Given the description of an element on the screen output the (x, y) to click on. 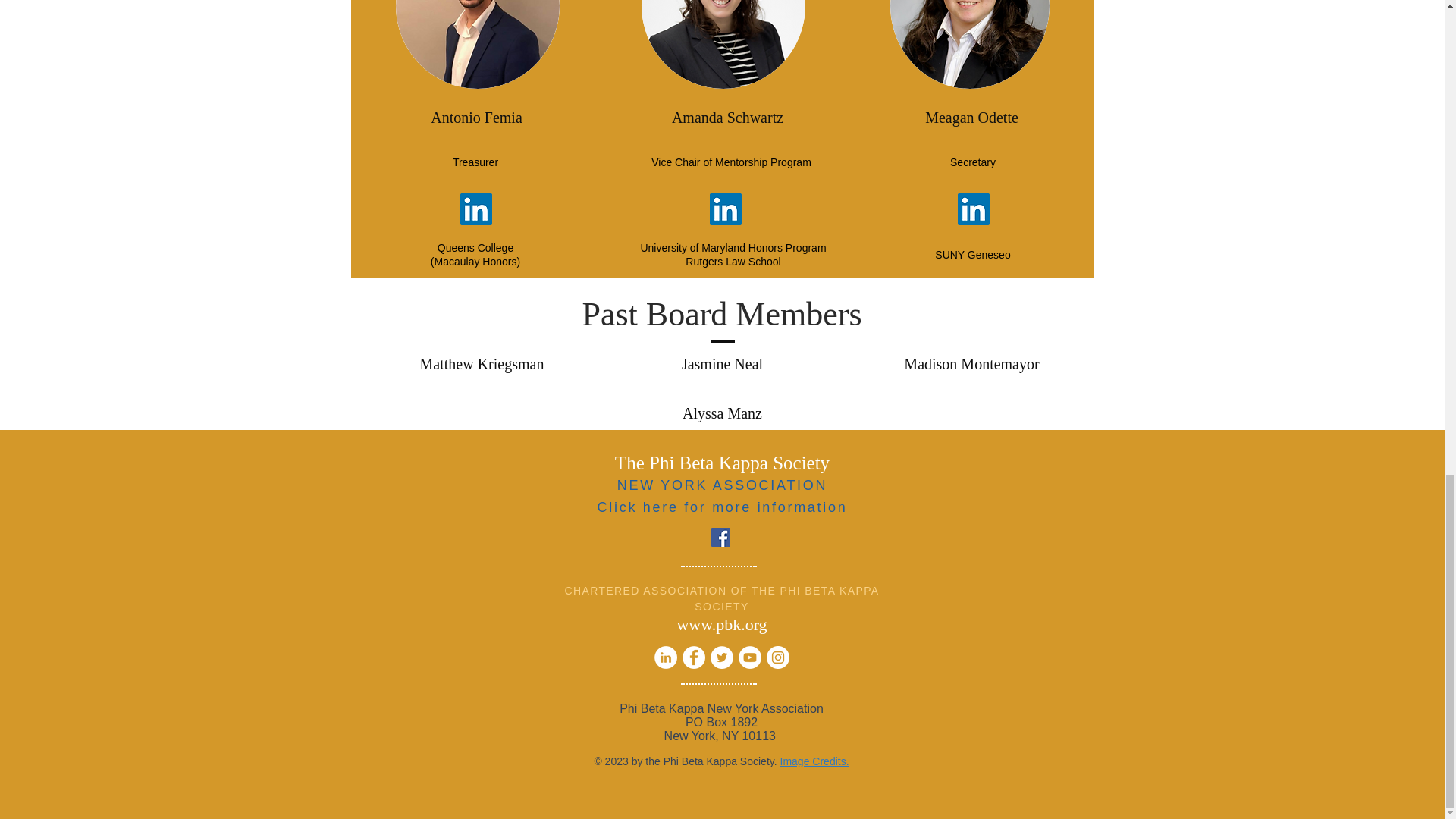
Image Credits. (814, 761)
guy4.jpg (723, 44)
www.pbk.org (722, 624)
Click here (637, 507)
guy3.jpg (969, 44)
CHARTERED ASSOCIATION OF THE PHI BETA KAPPA SOCIETY (721, 598)
guy2.jpg (477, 44)
